Given the description of an element on the screen output the (x, y) to click on. 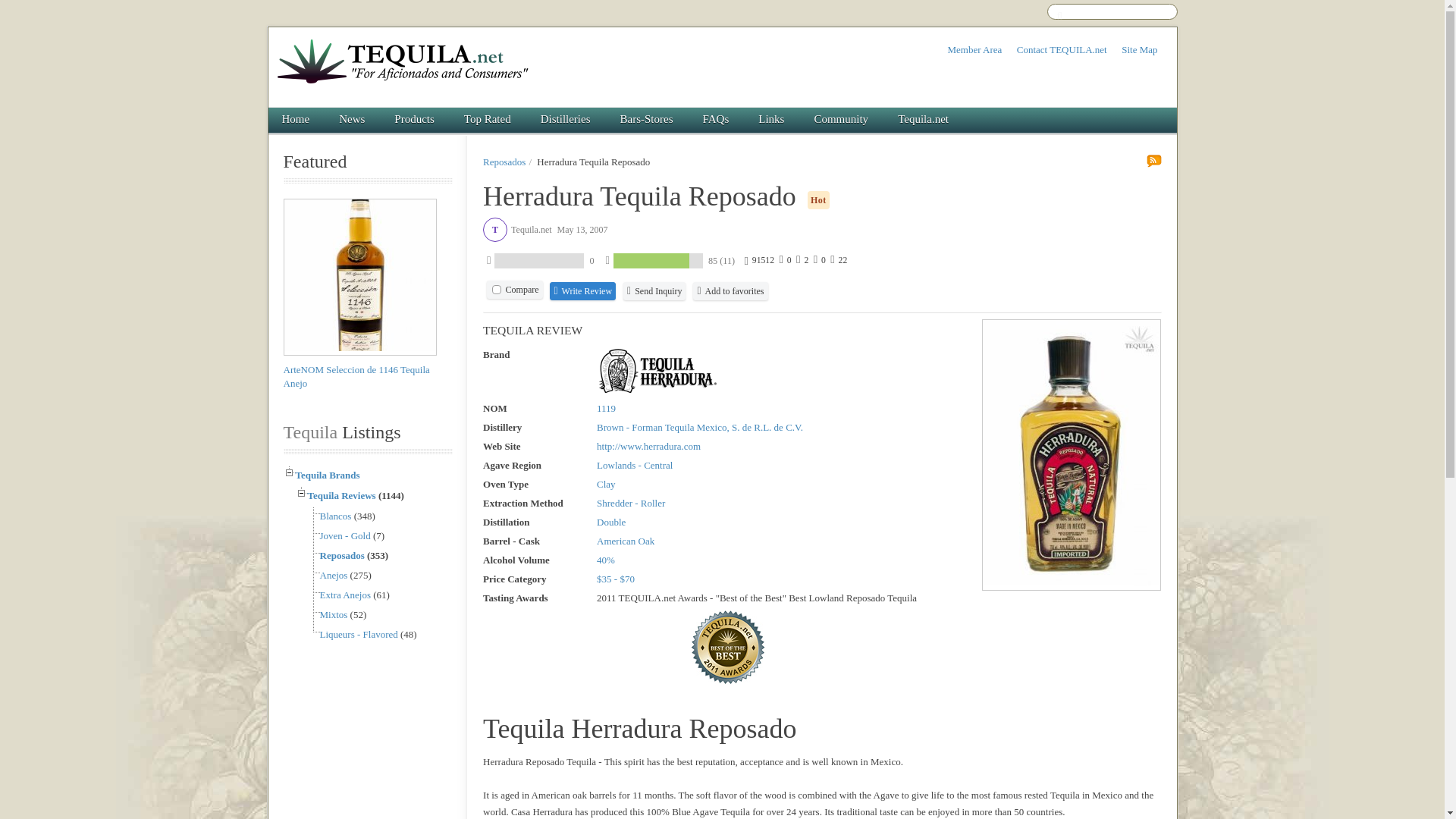
Herradura Tequila Reposado review feeds (1154, 161)
Photo count (800, 259)
Favorite count (837, 259)
442 (496, 289)
Site Map (1139, 49)
Editor rating (540, 262)
Video count (783, 259)
User rating (670, 262)
Contact TEQUILA.net (1061, 49)
Herradura (656, 370)
Products (414, 120)
2011 TEQUILA.net Awards - Best of the Best (727, 647)
Home (295, 120)
Attachment count (817, 259)
Member Area (974, 49)
